Given the description of an element on the screen output the (x, y) to click on. 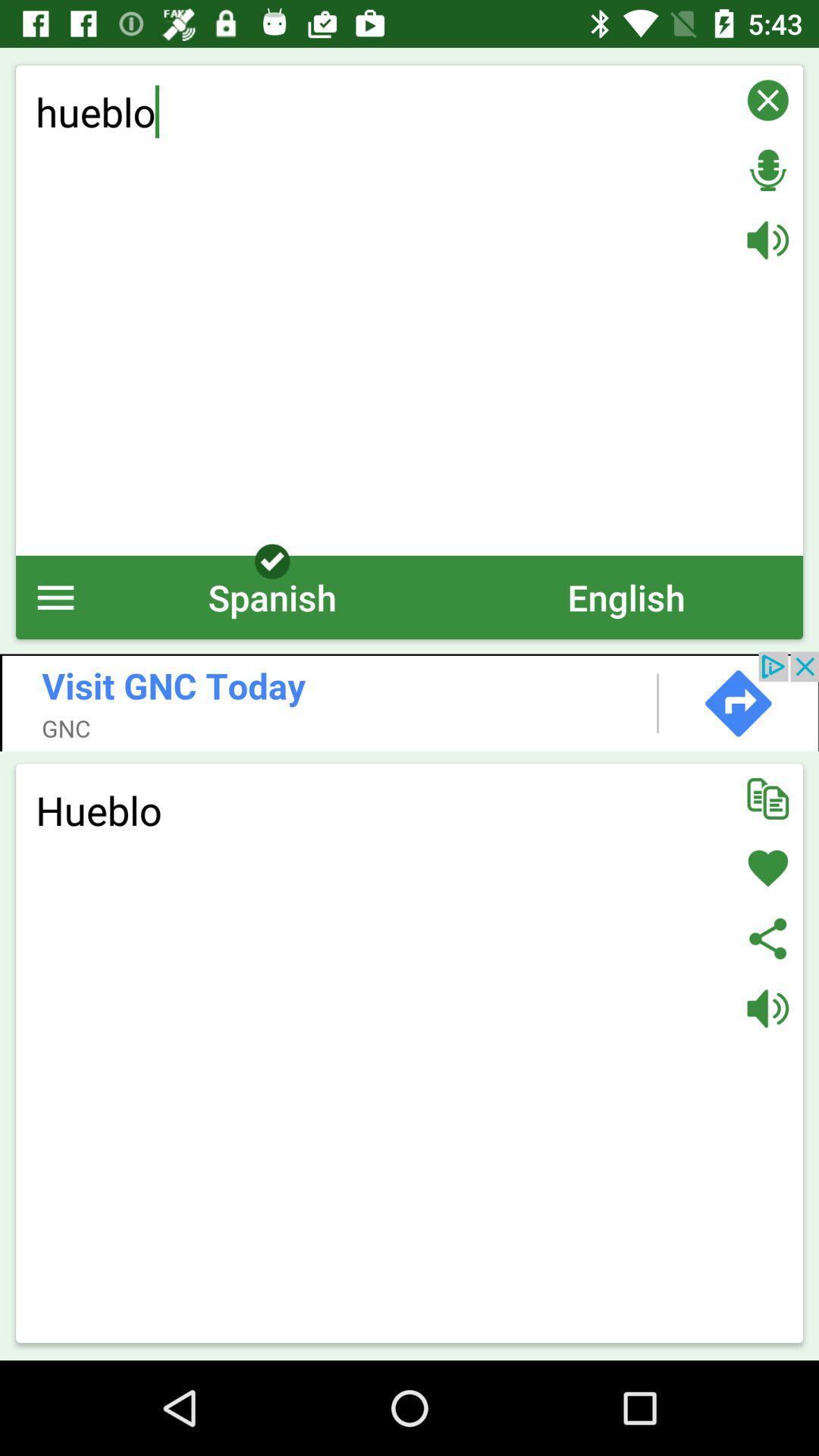
press record (768, 170)
